Given the description of an element on the screen output the (x, y) to click on. 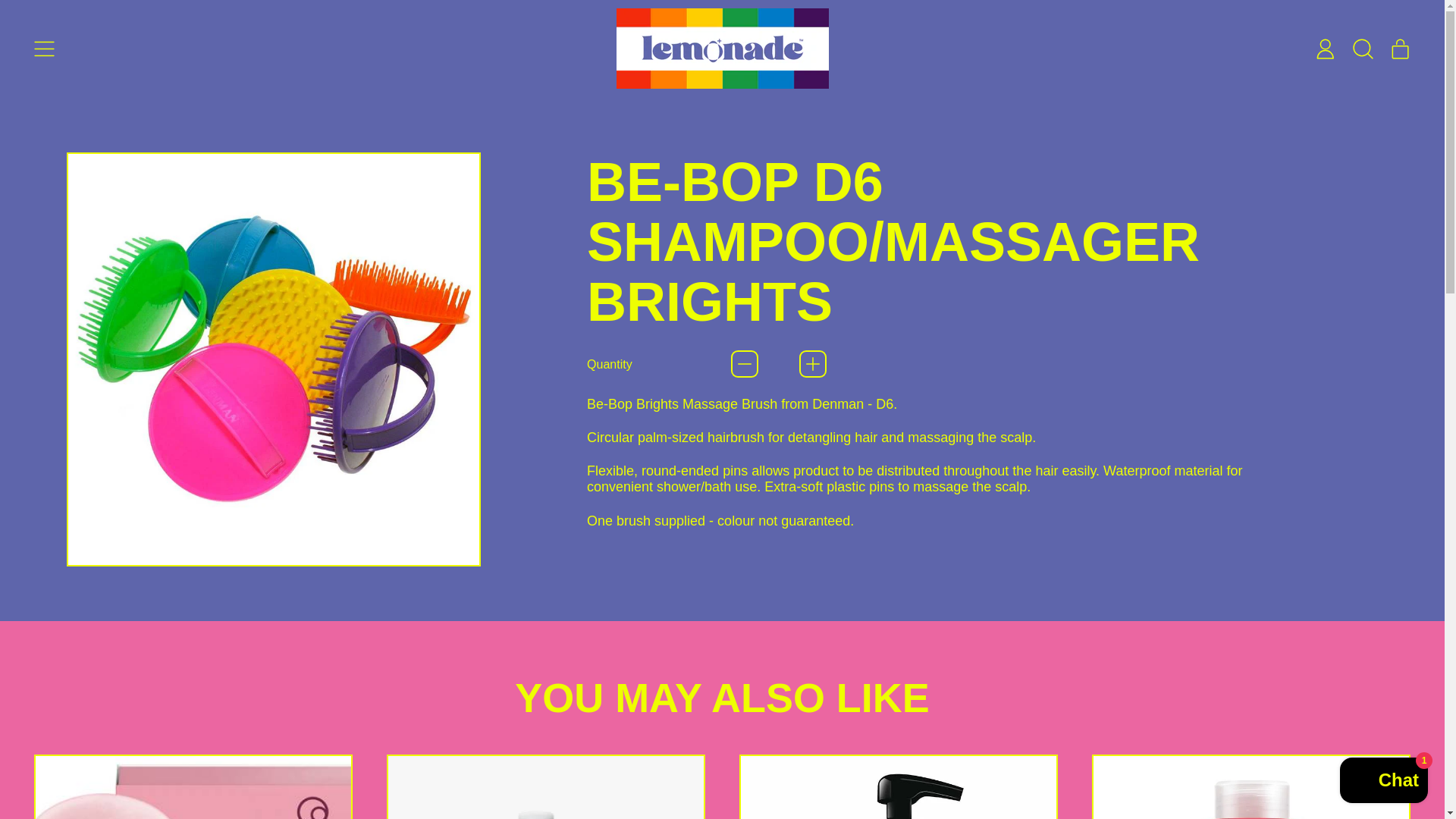
NEW OSMO Super Ice Shampoo 1000ml (898, 786)
FOAMIE - Shampoo Bar - Hibiscus for Damaged Hair (192, 786)
Shopify online store chat (1383, 781)
Menu (44, 48)
Serie Expert '21 - Liss - Shampoo - 1500ml (1400, 48)
Log in (545, 786)
Search our site (1324, 48)
Wella Invigo - Color Brilliance - Shampoo Coarse 1000ml (1362, 48)
